Given the description of an element on the screen output the (x, y) to click on. 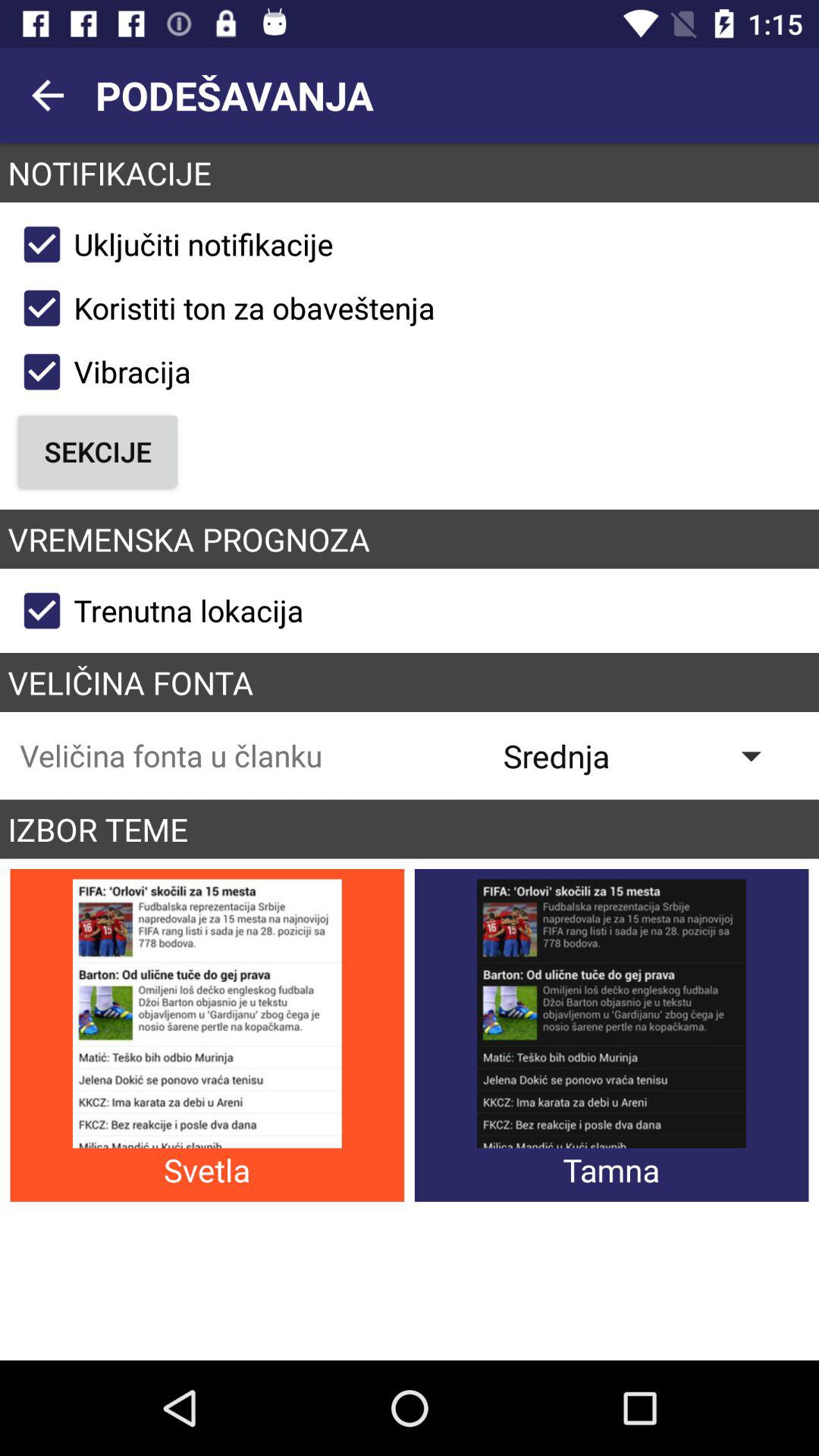
launch the trenutna lokacija checkbox (156, 610)
